Given the description of an element on the screen output the (x, y) to click on. 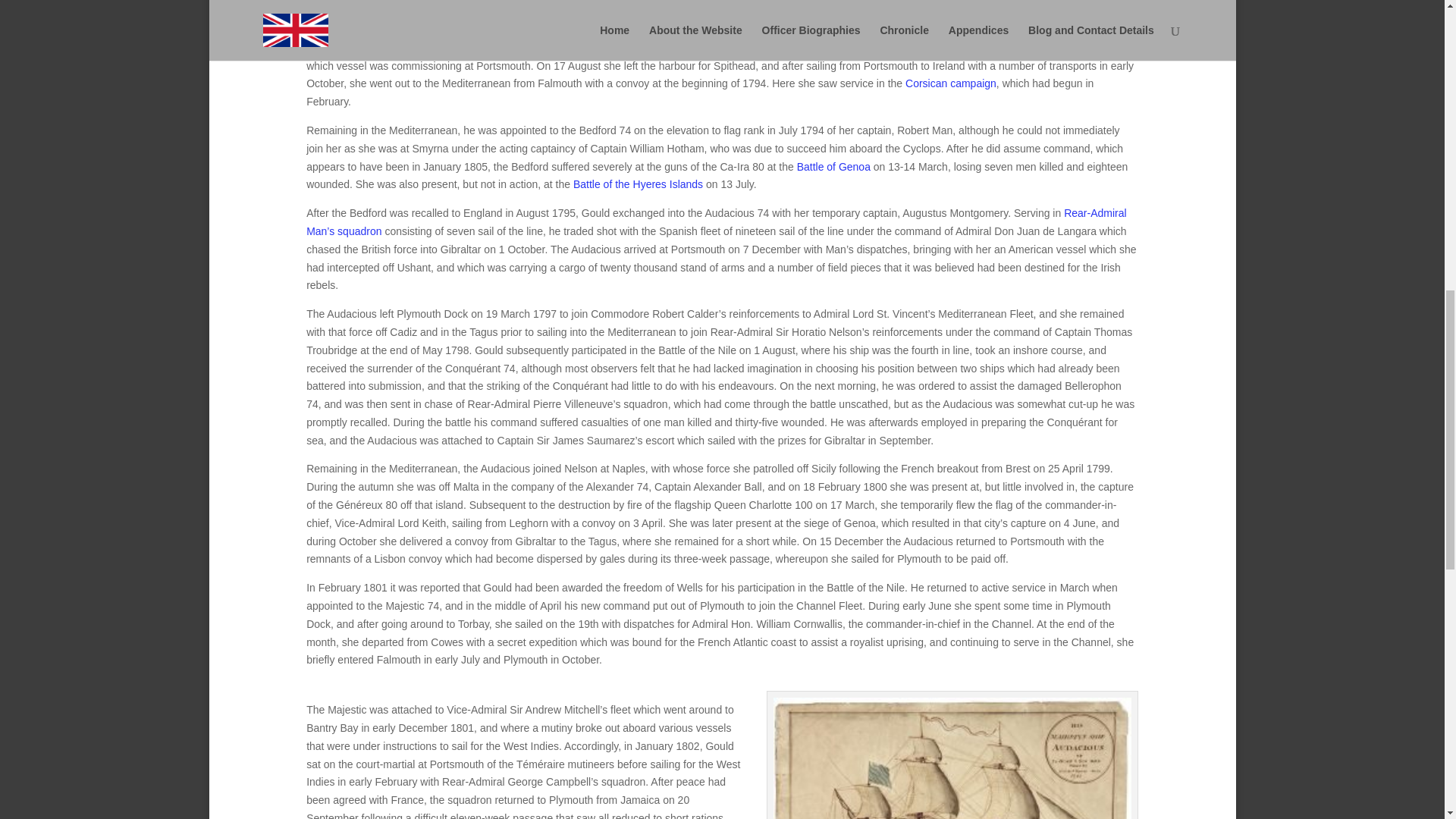
Battle of Genoa (833, 166)
Battle of the Hyeres Islands (638, 184)
Corsican campaign (950, 82)
